Given the description of an element on the screen output the (x, y) to click on. 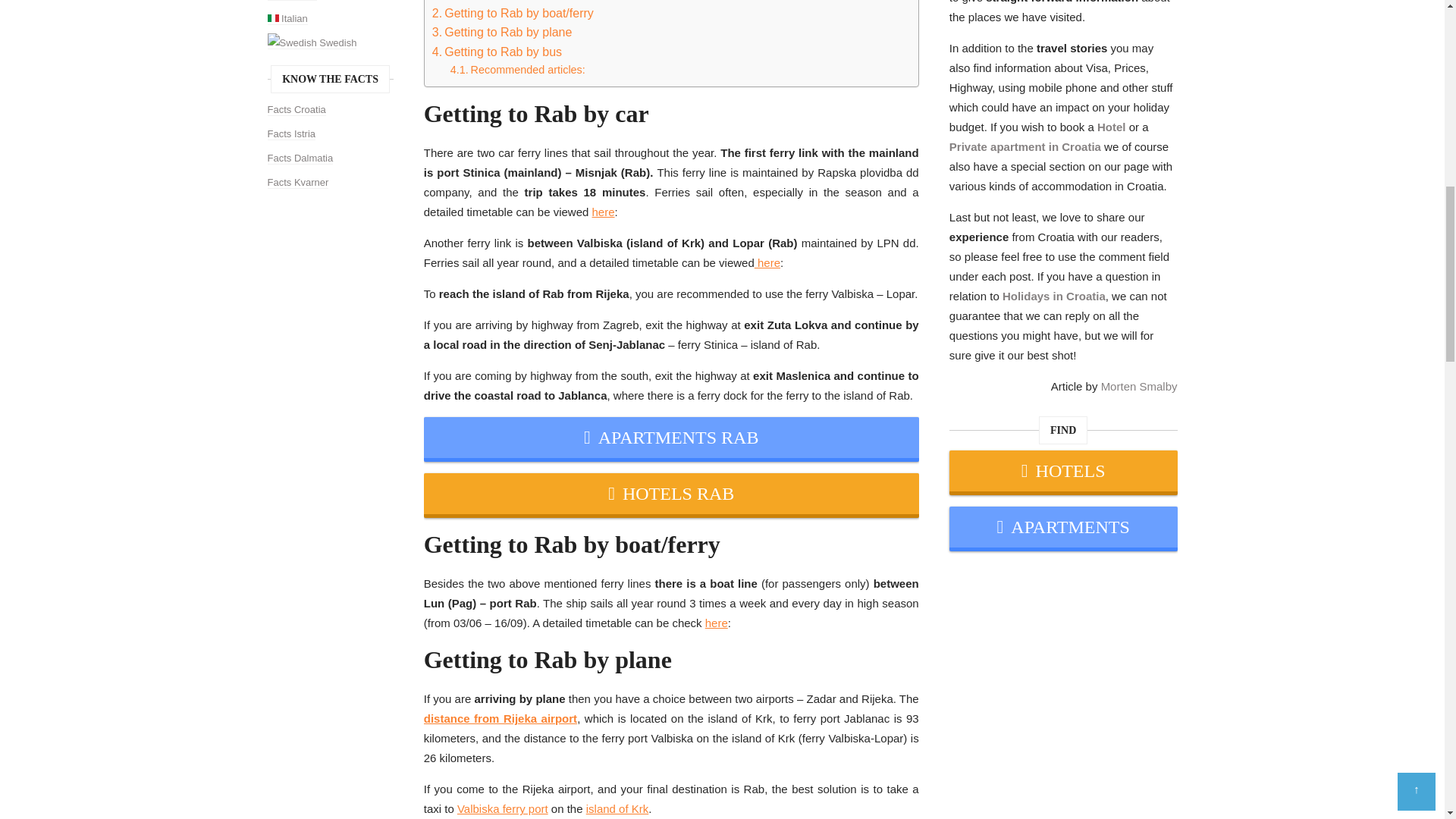
Getting to Rab by car (495, 2)
Getting to Rab by plane (502, 32)
Getting to Rab by bus (497, 52)
Getting to Rab by car (495, 2)
